Given the description of an element on the screen output the (x, y) to click on. 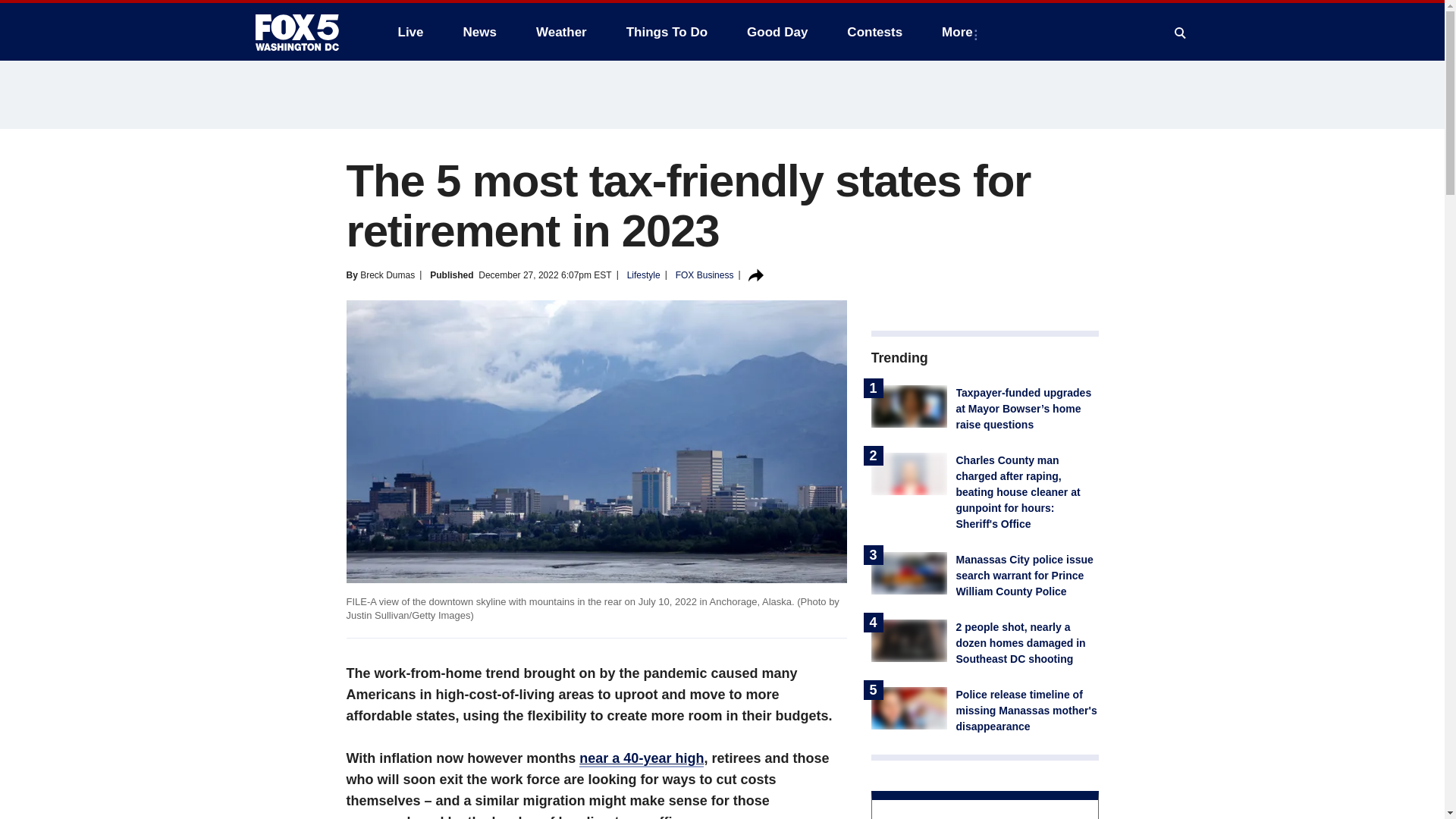
More (960, 32)
Contests (874, 32)
News (479, 32)
Weather (561, 32)
Good Day (777, 32)
Live (410, 32)
Things To Do (666, 32)
